Given the description of an element on the screen output the (x, y) to click on. 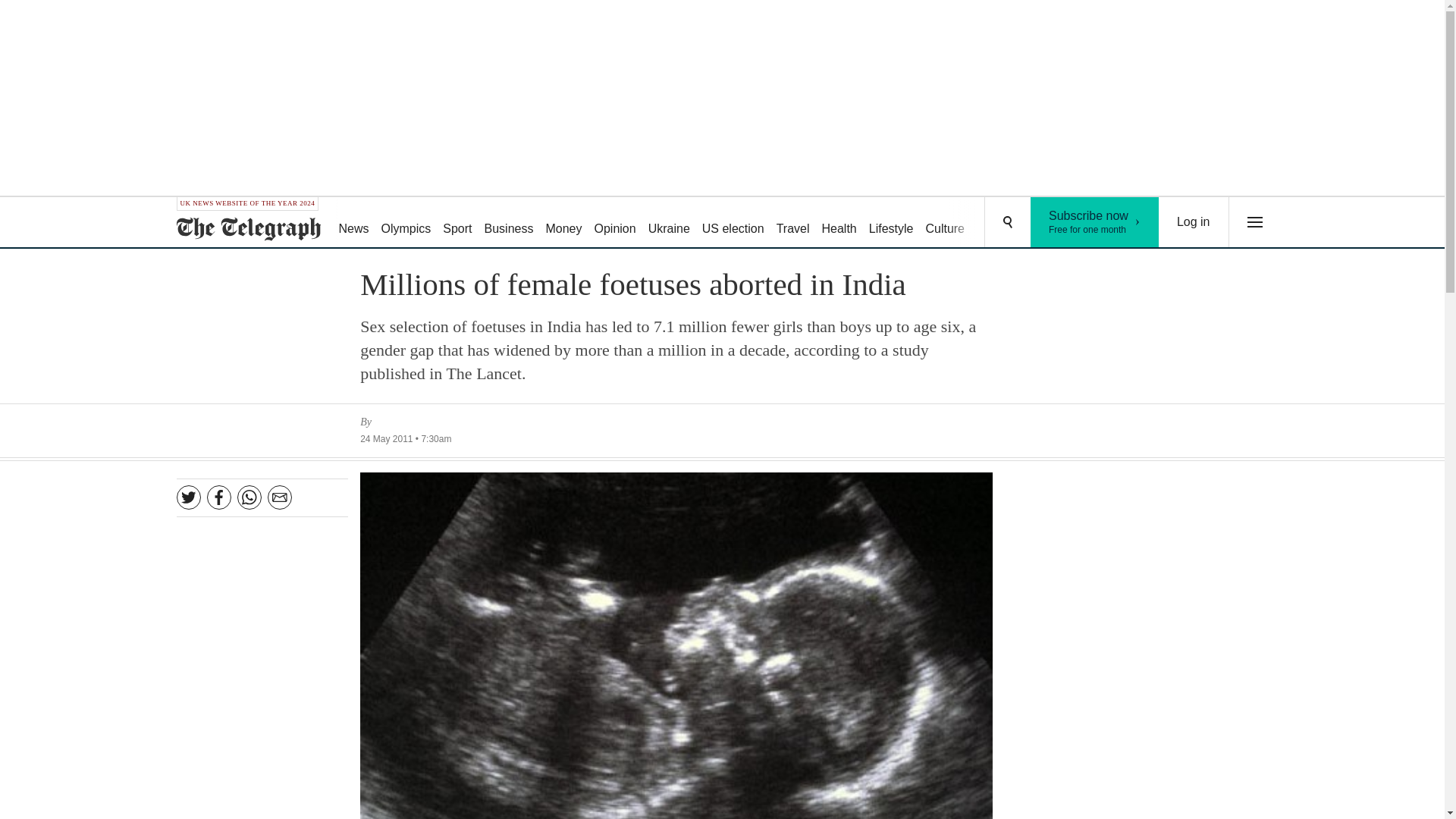
Business (509, 223)
Puzzles (998, 223)
Health (838, 223)
Log in (1193, 222)
Culture (1094, 222)
Opinion (944, 223)
Podcasts (615, 223)
Lifestyle (1056, 223)
Ukraine (891, 223)
Travel (668, 223)
US election (792, 223)
Money (732, 223)
Olympics (563, 223)
